Given the description of an element on the screen output the (x, y) to click on. 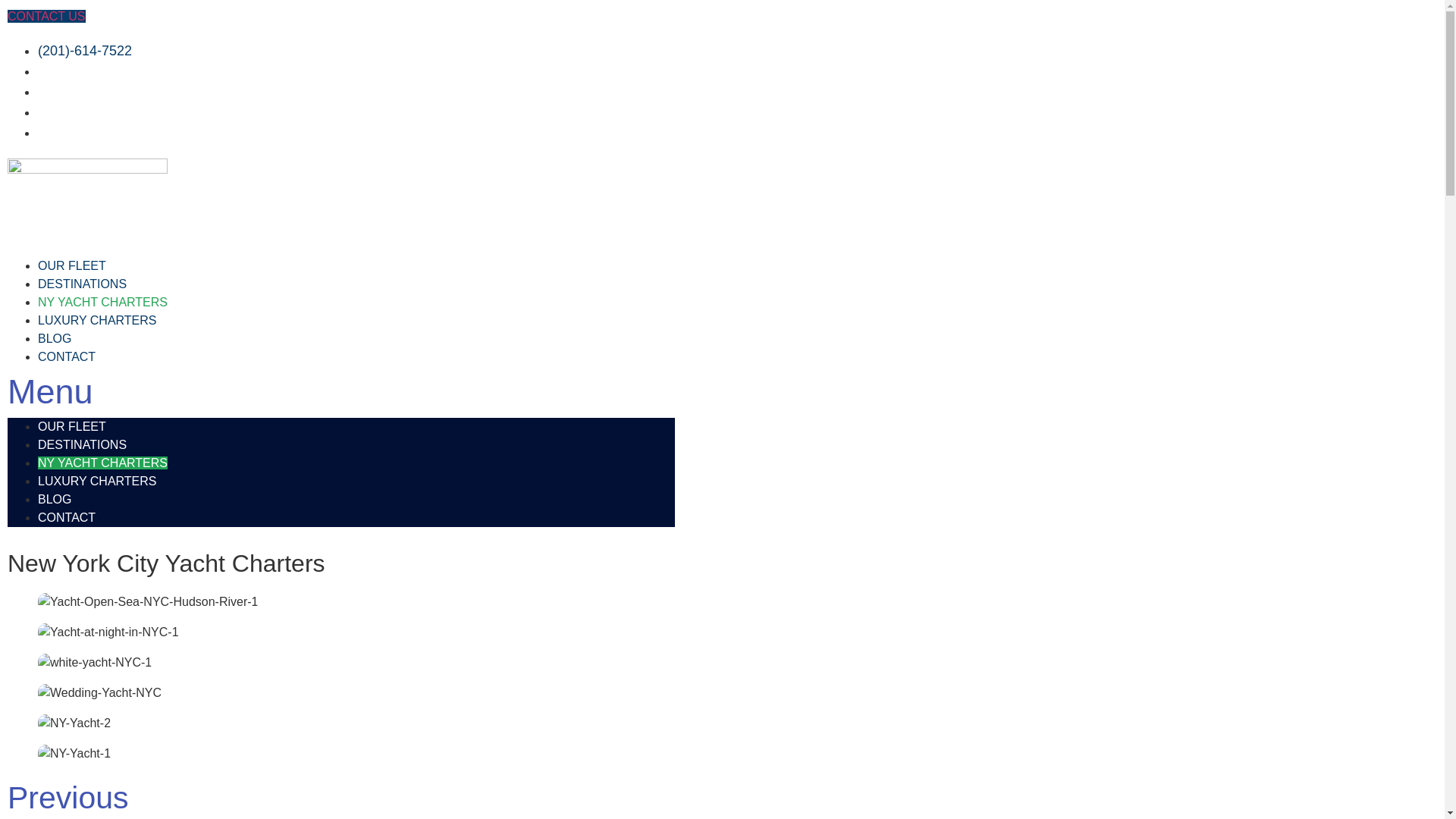
BLOG (54, 338)
DESTINATIONS (81, 283)
CONTACT (66, 517)
LUXURY CHARTERS (97, 481)
NY YACHT CHARTERS (102, 301)
OUR FLEET (71, 426)
CONTACT US (46, 15)
BLOG (54, 499)
DESTINATIONS (81, 444)
OUR FLEET (71, 265)
LUXURY CHARTERS (97, 319)
CONTACT (66, 356)
NY YACHT CHARTERS (102, 462)
